Given the description of an element on the screen output the (x, y) to click on. 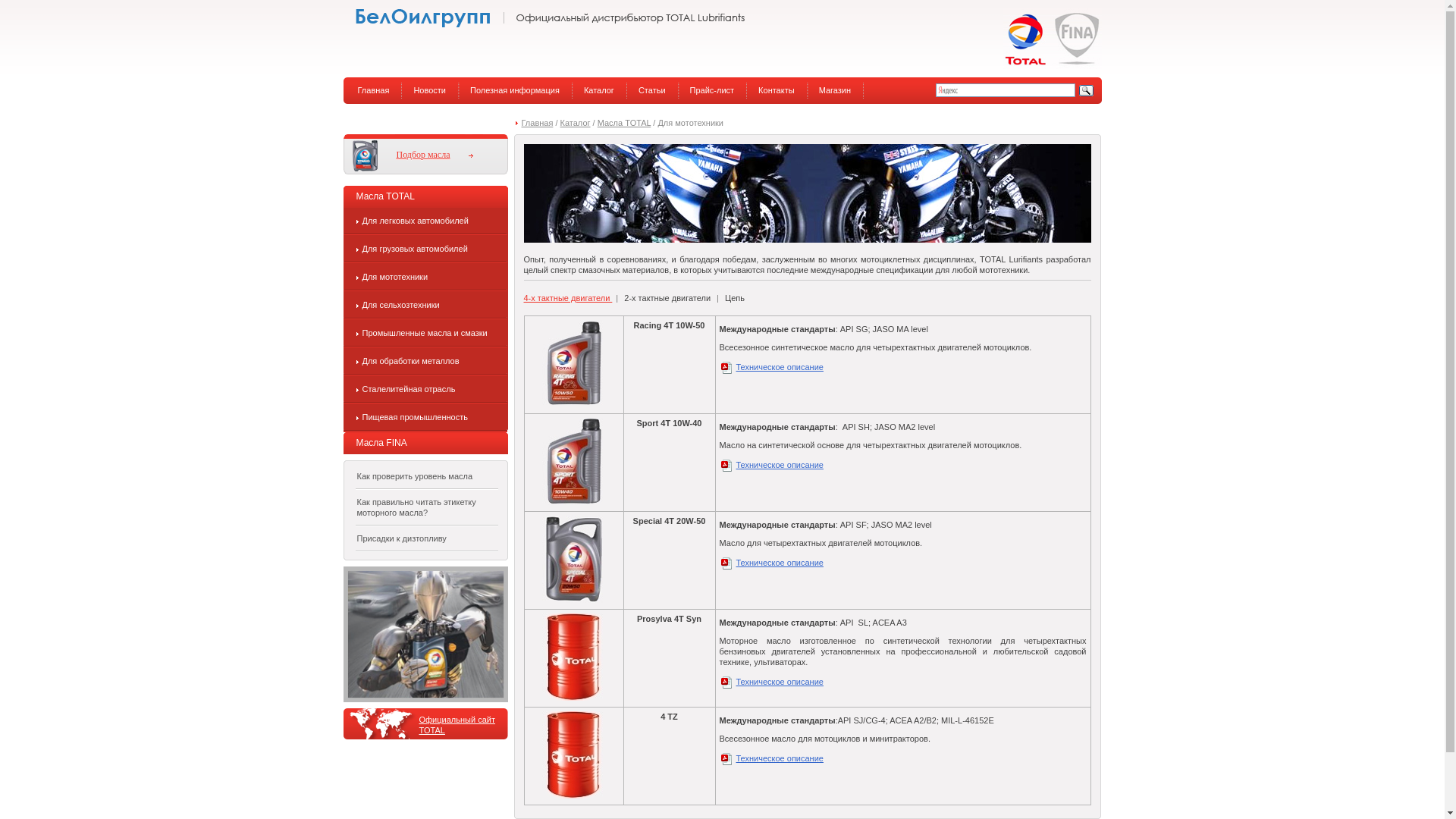
Total_quartz_ironman Element type: hover (425, 633)
